Given the description of an element on the screen output the (x, y) to click on. 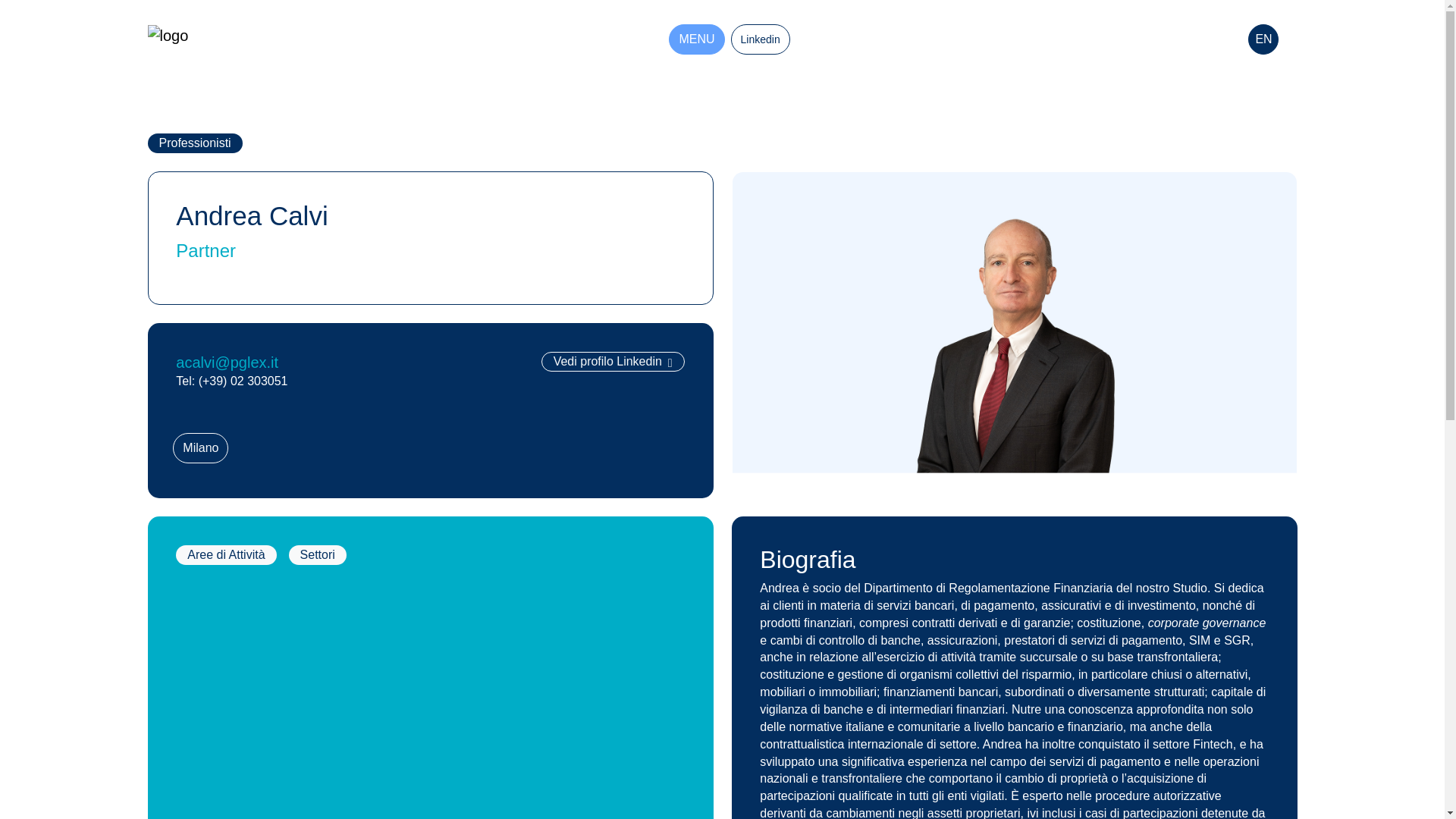
MENU (695, 39)
EN (1262, 39)
Linkedin (760, 39)
Settori (316, 554)
Milano (200, 448)
Vedi profilo Linkedin (612, 361)
Professionisti (194, 143)
